Given the description of an element on the screen output the (x, y) to click on. 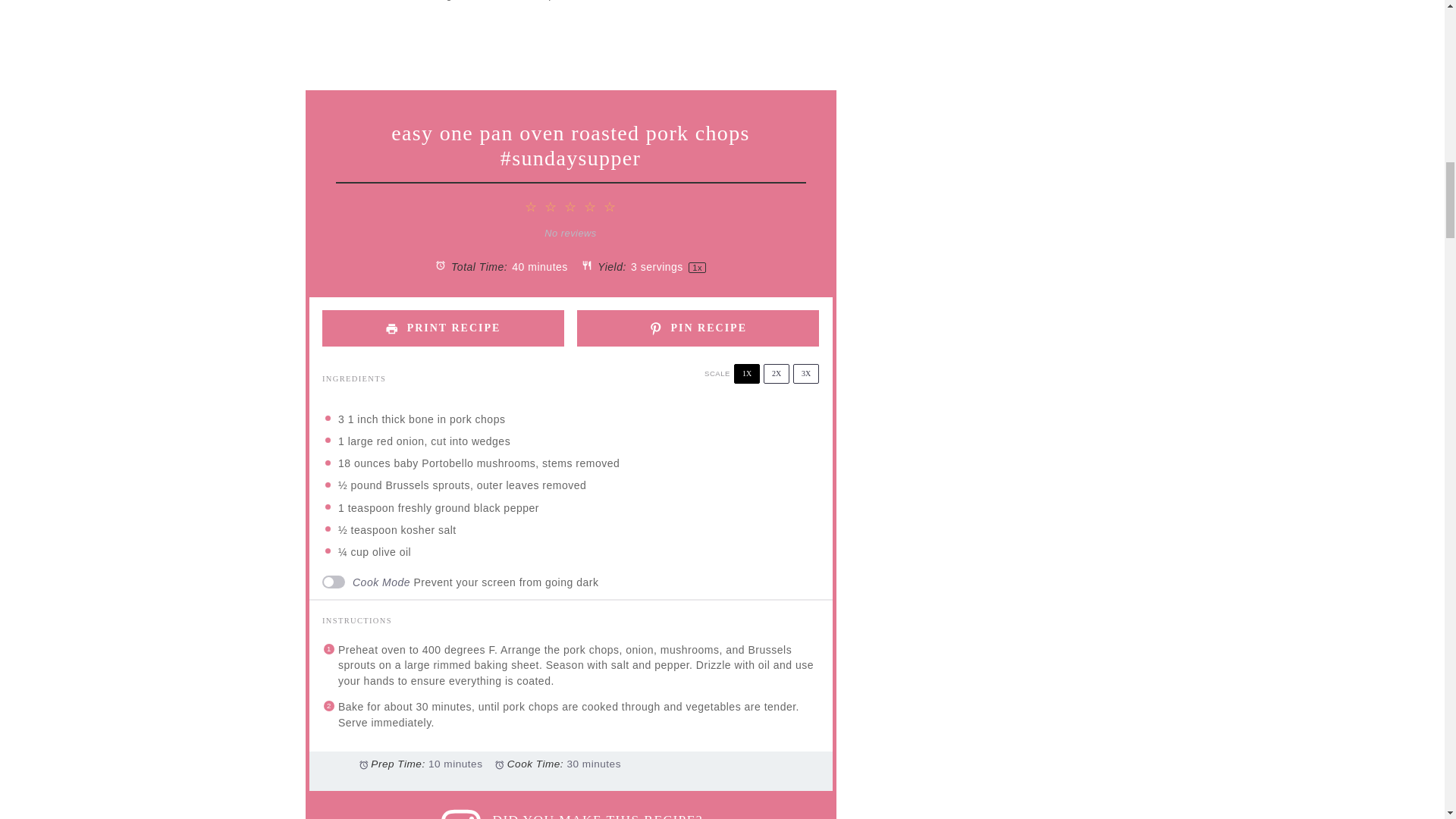
2X (775, 373)
1X (746, 373)
3X (805, 373)
PRINT RECIPE (442, 328)
PIN RECIPE (697, 328)
